Given the description of an element on the screen output the (x, y) to click on. 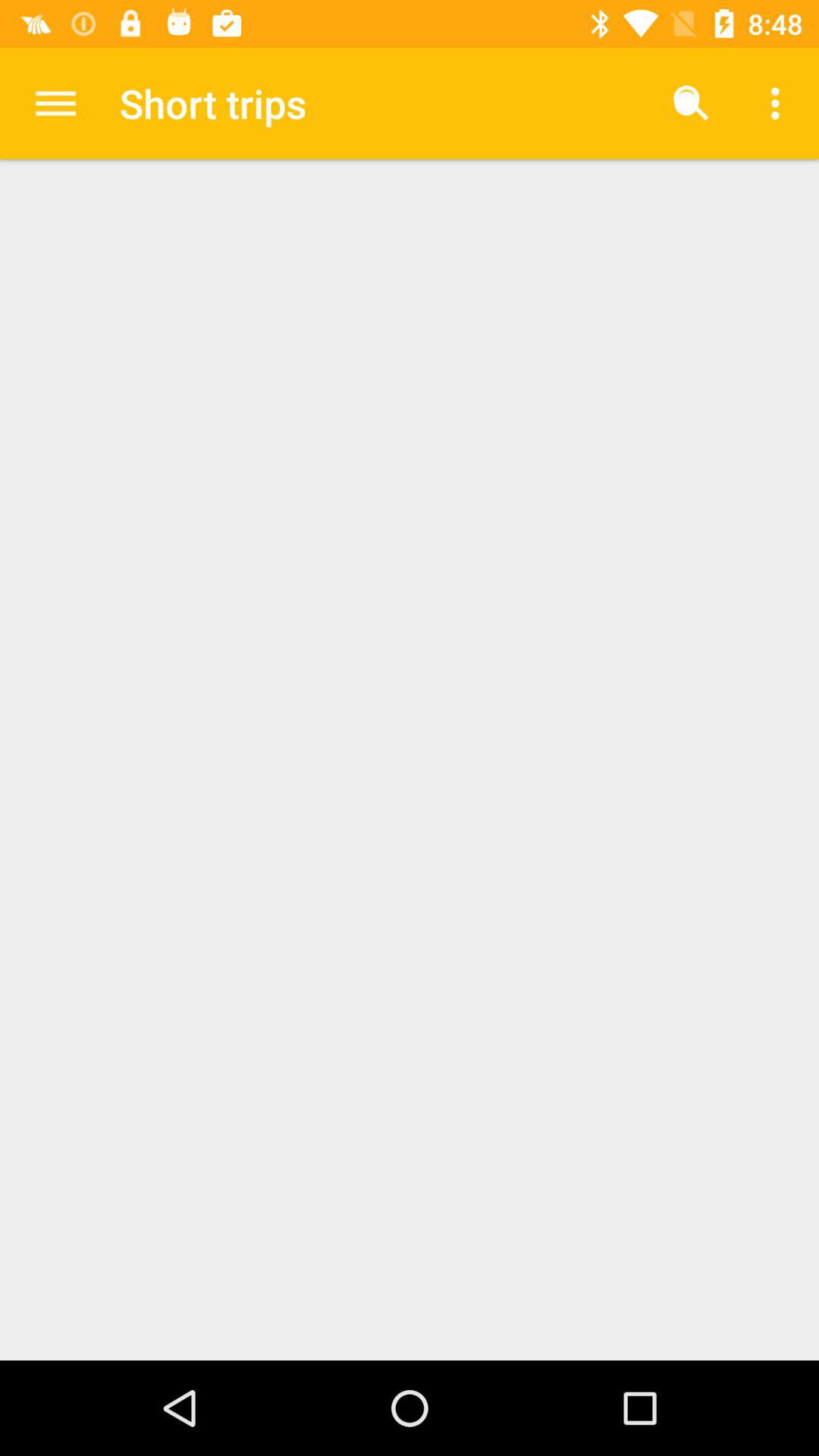
tap the item next to short trips icon (691, 103)
